Given the description of an element on the screen output the (x, y) to click on. 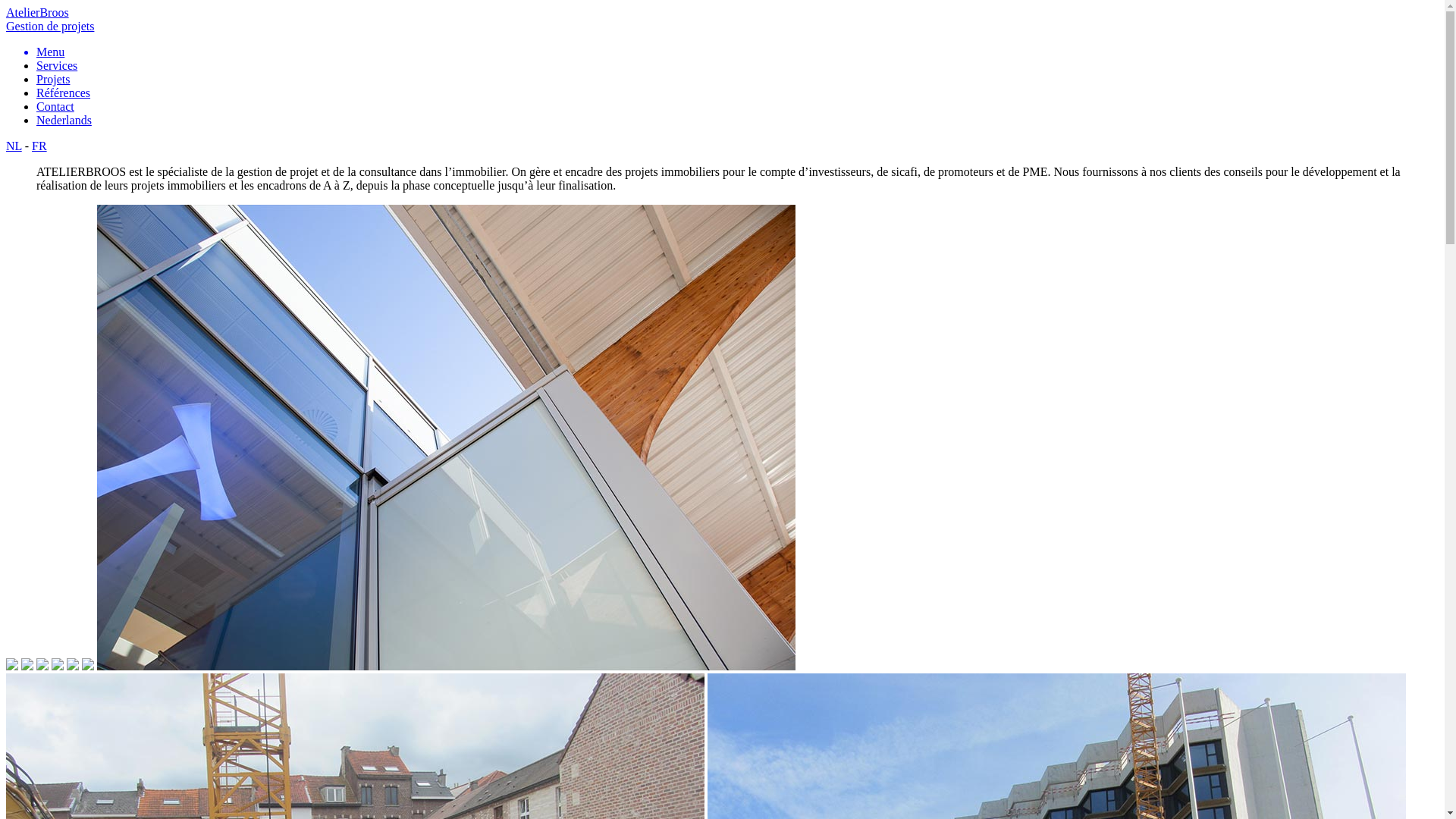
Projets Element type: text (52, 78)
NL Element type: text (13, 145)
Services Element type: text (56, 65)
Menu Element type: text (737, 52)
AtelierBroos
Gestion de projets Element type: text (722, 19)
FR Element type: text (39, 145)
Contact Element type: text (55, 106)
Nederlands Element type: text (63, 119)
